Given the description of an element on the screen output the (x, y) to click on. 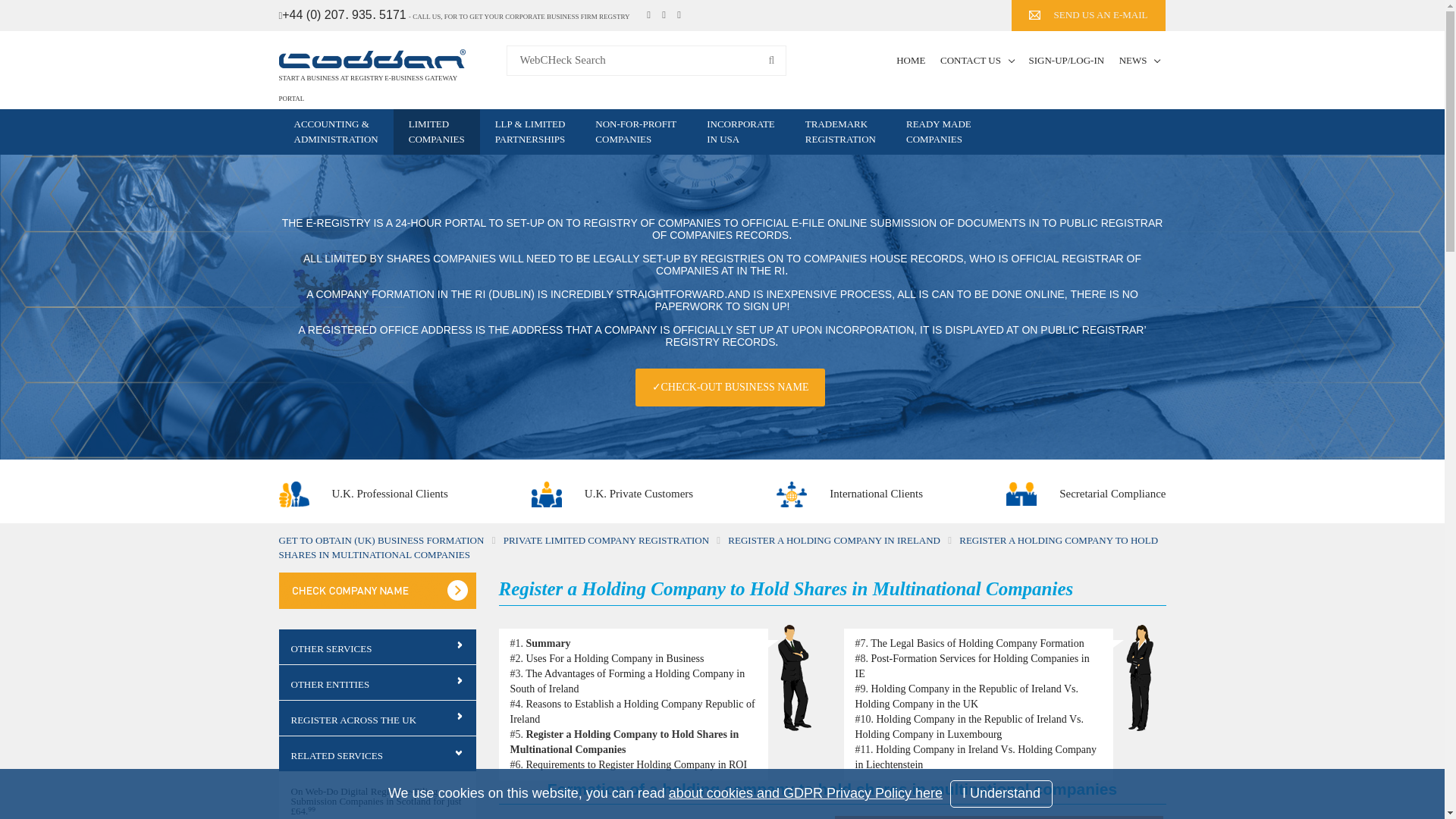
CONTACT US (977, 61)
Click here if you have account with us (1065, 61)
SEND US AN E-MAIL (1088, 15)
about cookies and GDPR Privacy Policy here (805, 792)
WebCHeck Search (646, 60)
I Understand (1001, 793)
